Given the description of an element on the screen output the (x, y) to click on. 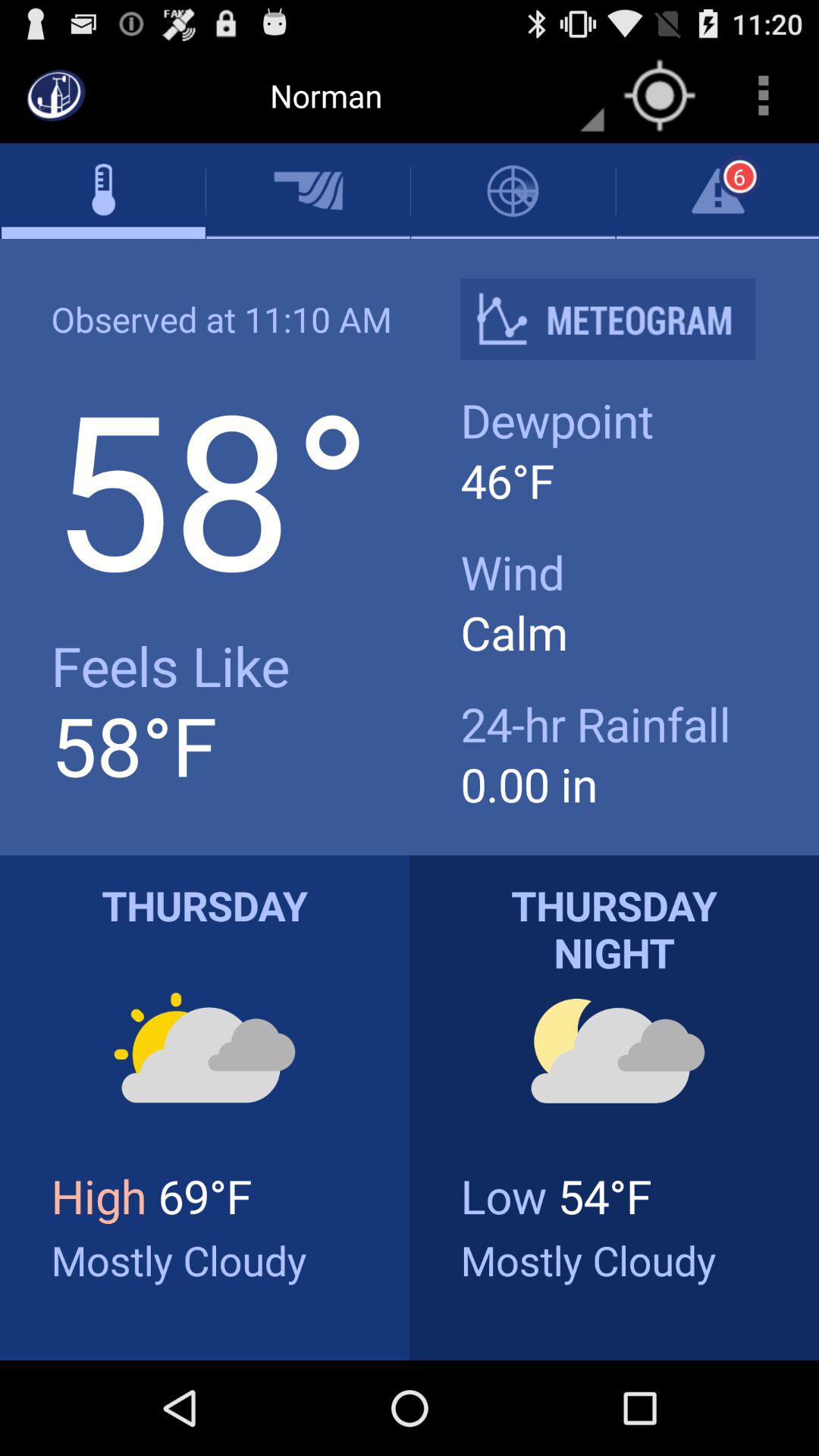
the icon represented the direction of te country (659, 95)
